Given the description of an element on the screen output the (x, y) to click on. 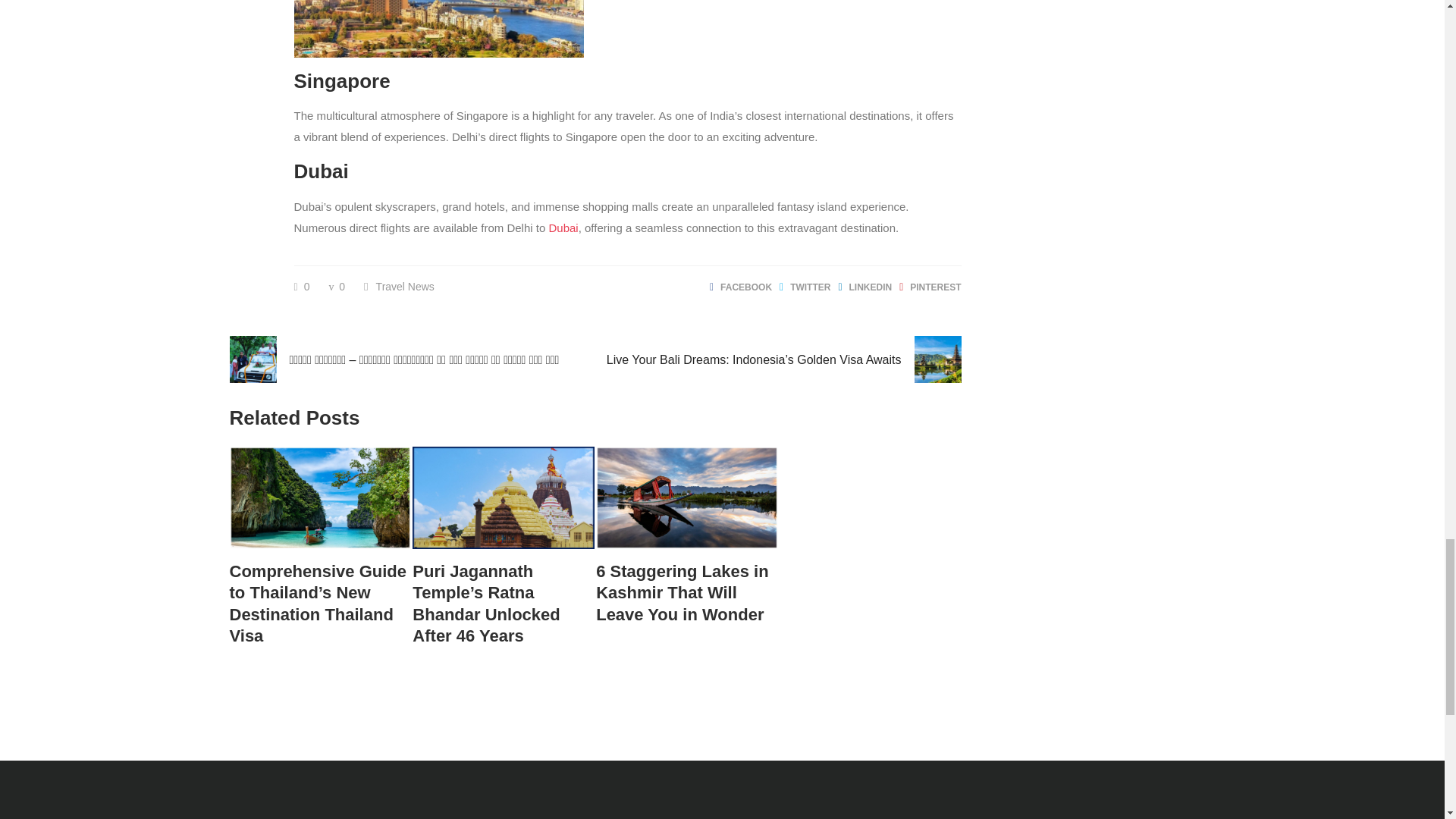
Like this (302, 286)
6 Staggering Lakes in Kashmir That Will Leave You in Wonder (686, 593)
